Given the description of an element on the screen output the (x, y) to click on. 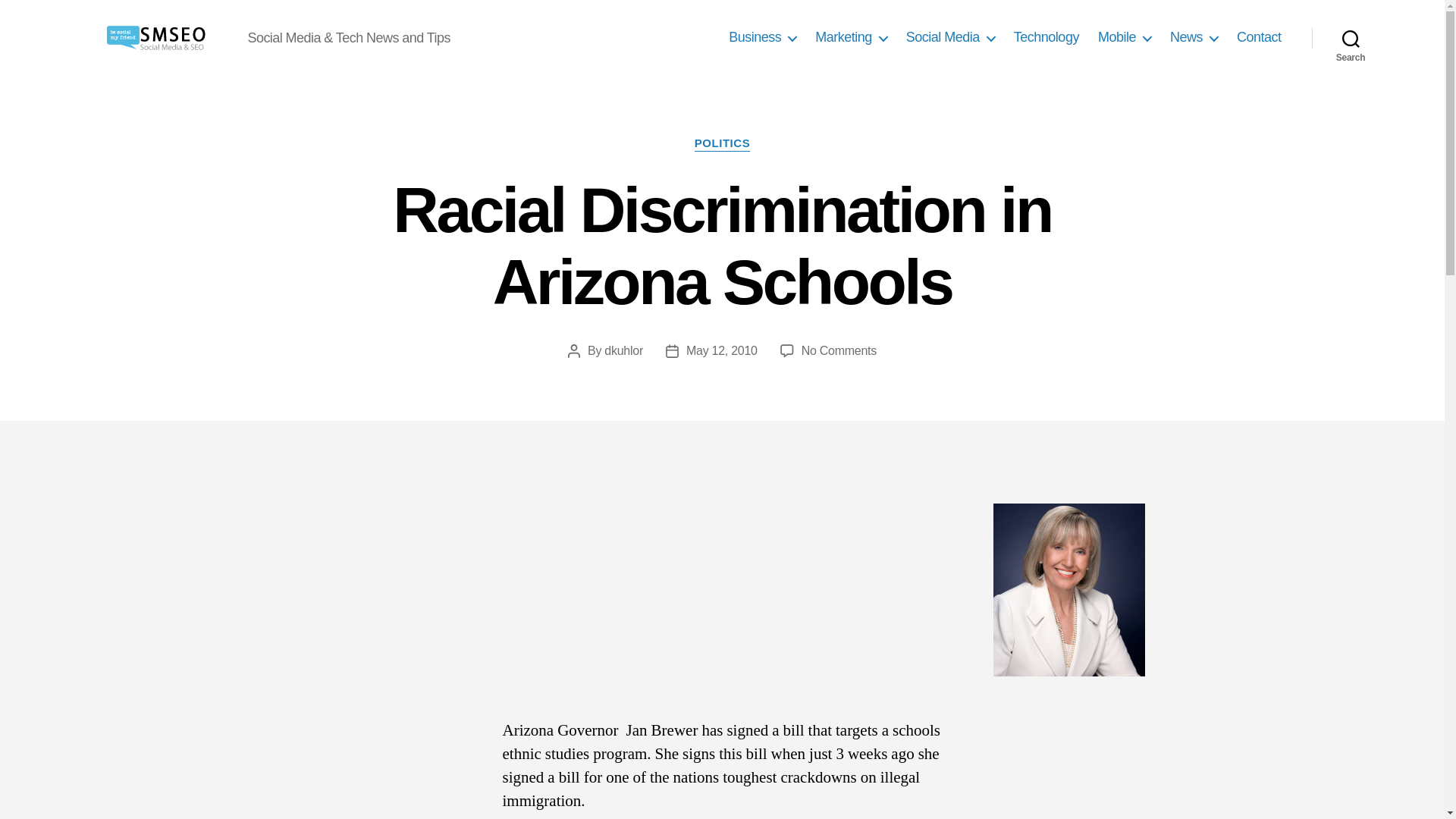
Social Media (949, 37)
News (1193, 37)
Contact (1258, 37)
Mobile (1124, 37)
Marketing (850, 37)
Advertisement (722, 607)
Business (762, 37)
Search (1350, 37)
Technology (1045, 37)
